Given the description of an element on the screen output the (x, y) to click on. 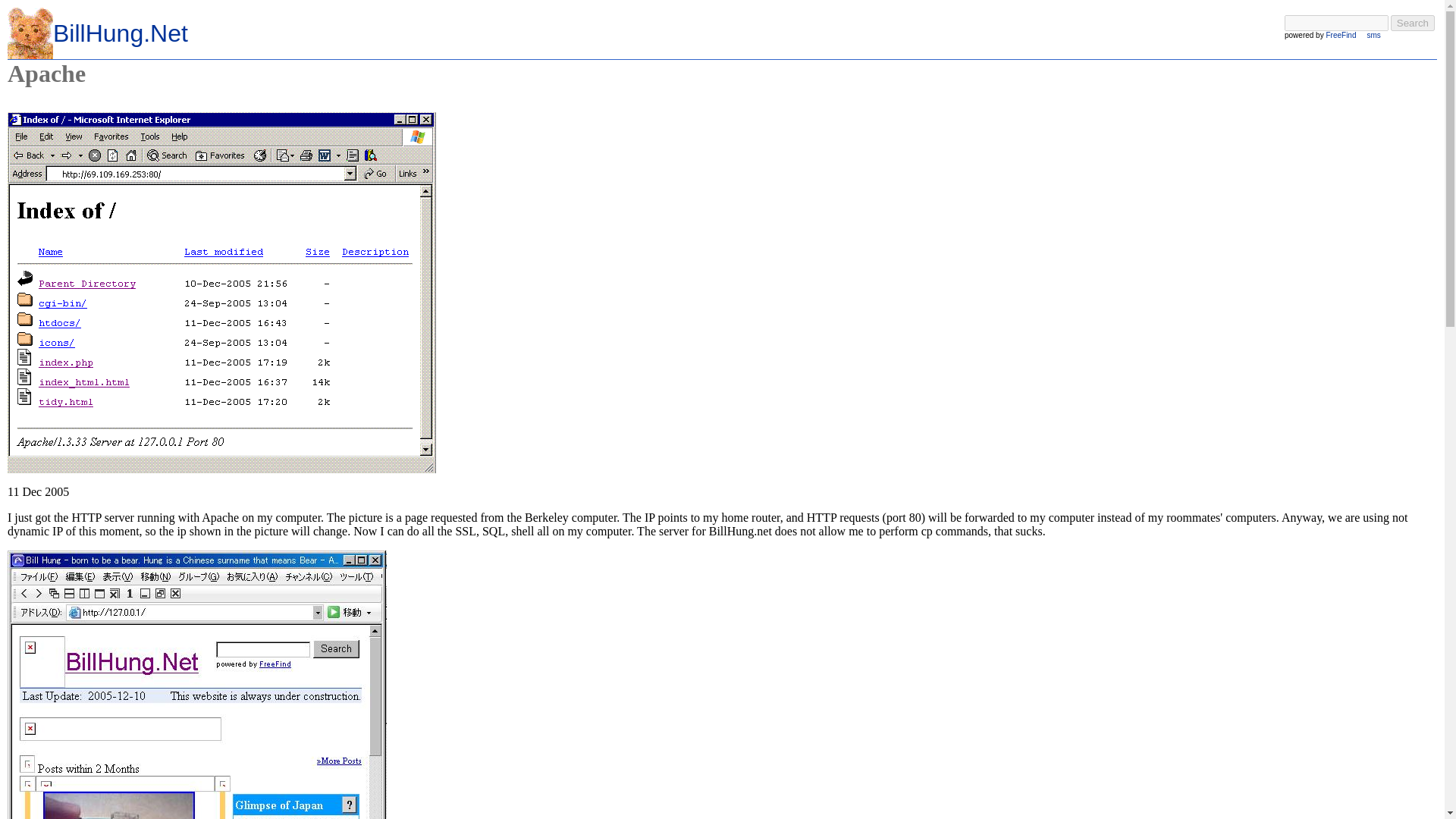
FreeFind (1339, 35)
sms (1373, 35)
Search (1412, 23)
BillHung.Net (119, 32)
